Given the description of an element on the screen output the (x, y) to click on. 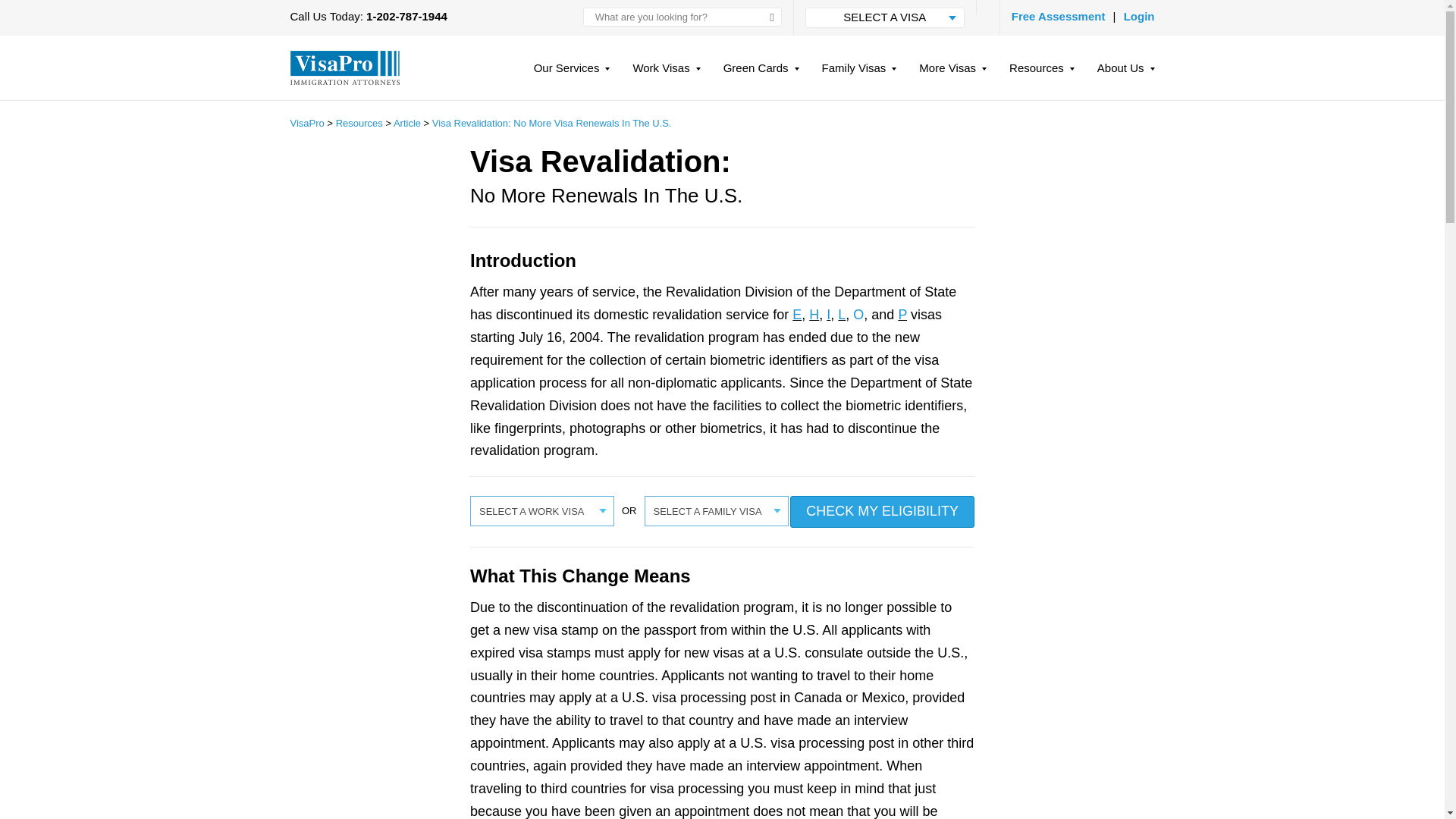
1-202-787-1944 (406, 15)
Login (1139, 15)
Our Services (571, 74)
Work Visas (666, 74)
SELECT A VISA (884, 17)
VisaPro (343, 67)
Search for (682, 16)
Free Assessment (1058, 15)
